Given the description of an element on the screen output the (x, y) to click on. 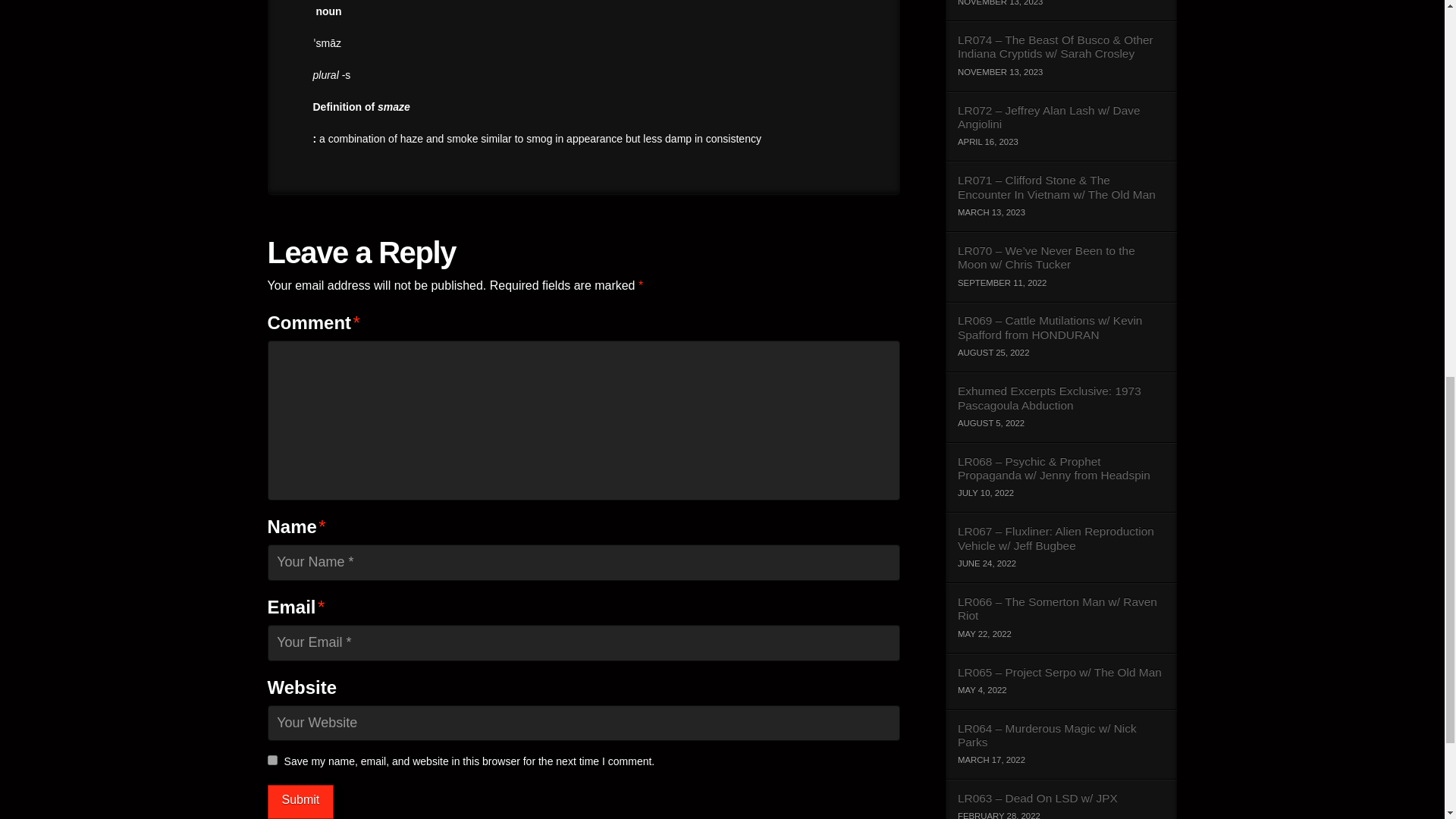
Submit (299, 801)
noun (327, 10)
Submit (299, 801)
yes (271, 759)
